Given the description of an element on the screen output the (x, y) to click on. 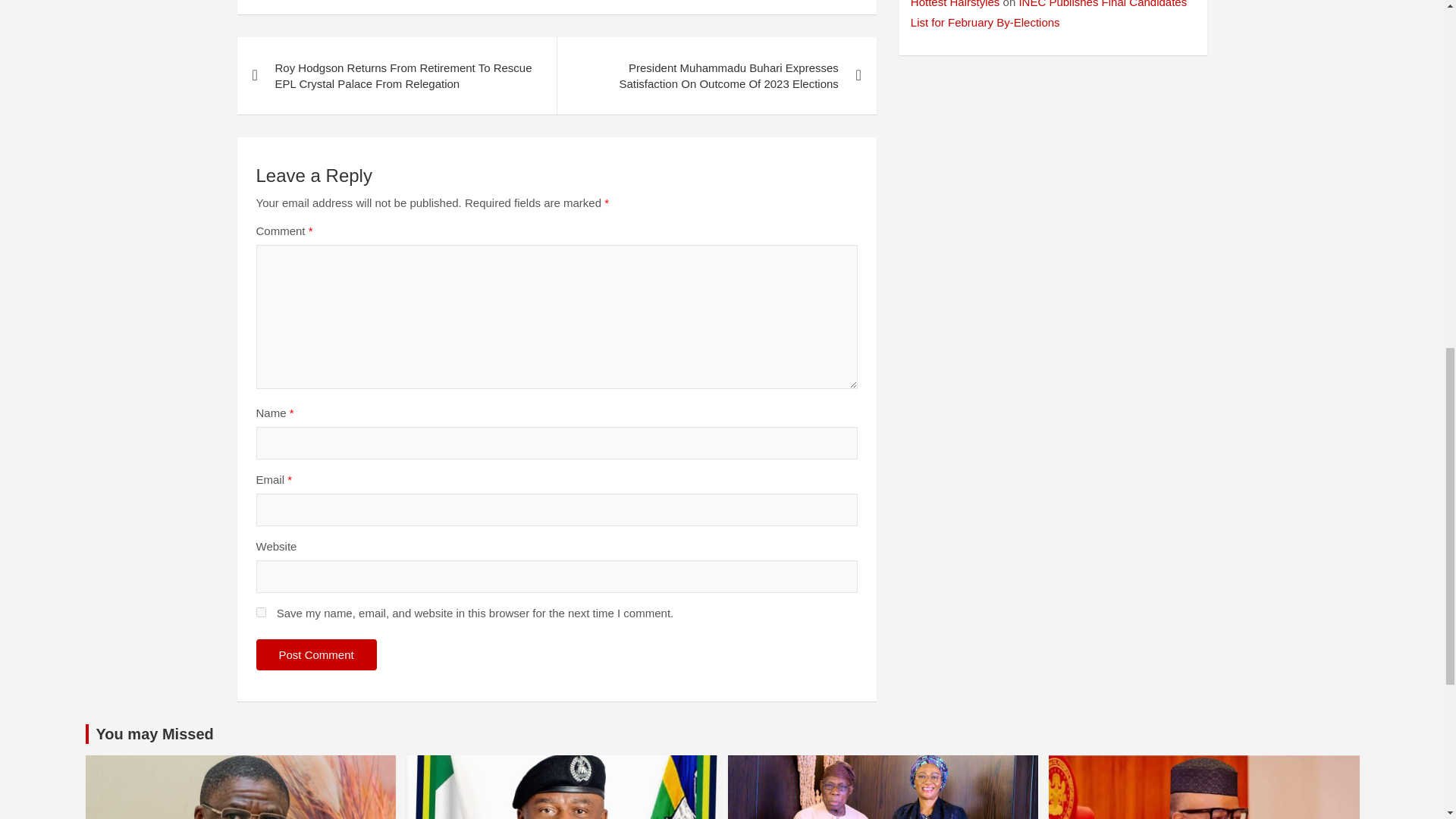
Post Comment (316, 654)
Post Comment (316, 654)
yes (261, 612)
